Given the description of an element on the screen output the (x, y) to click on. 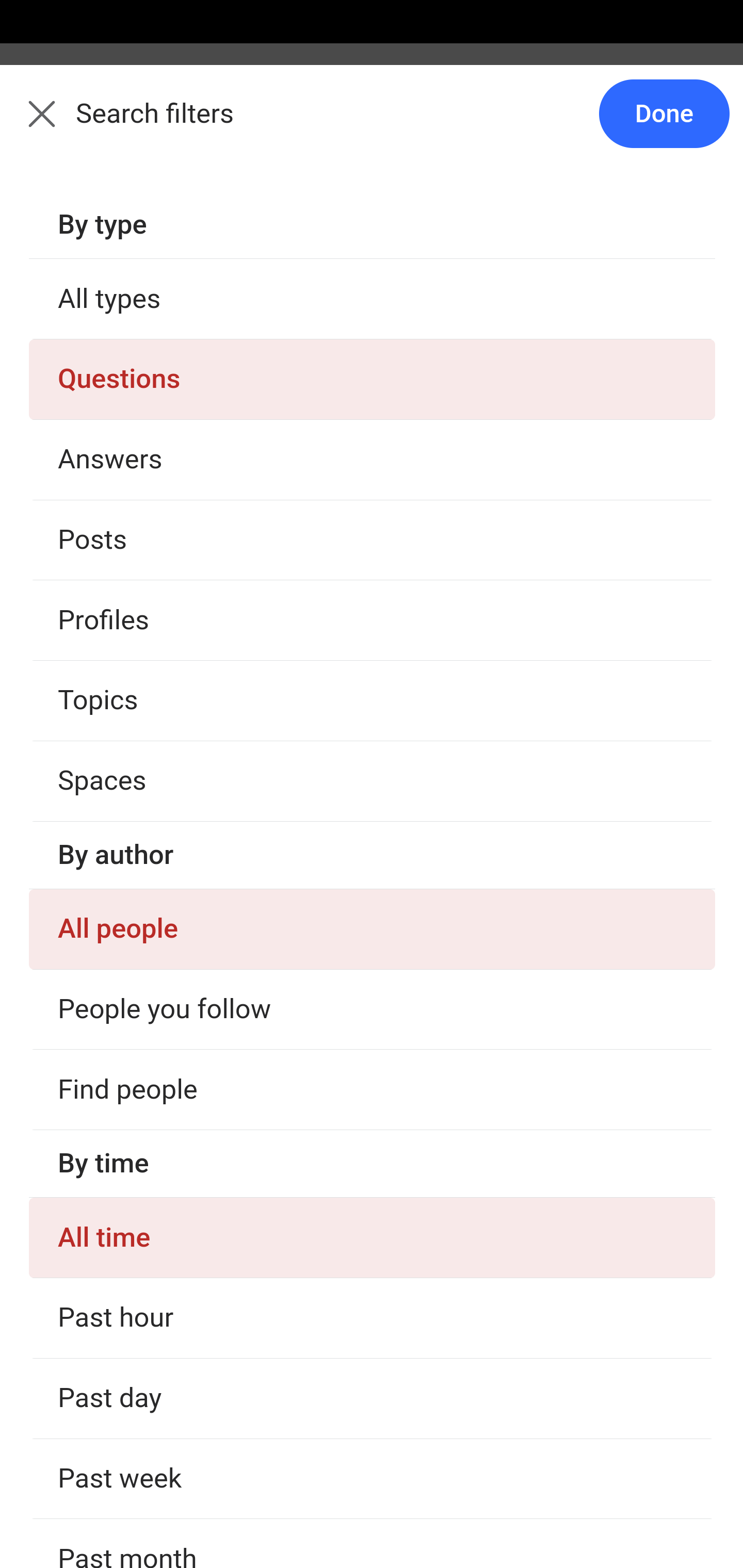
Back Search (371, 125)
Back (30, 125)
